Given the description of an element on the screen output the (x, y) to click on. 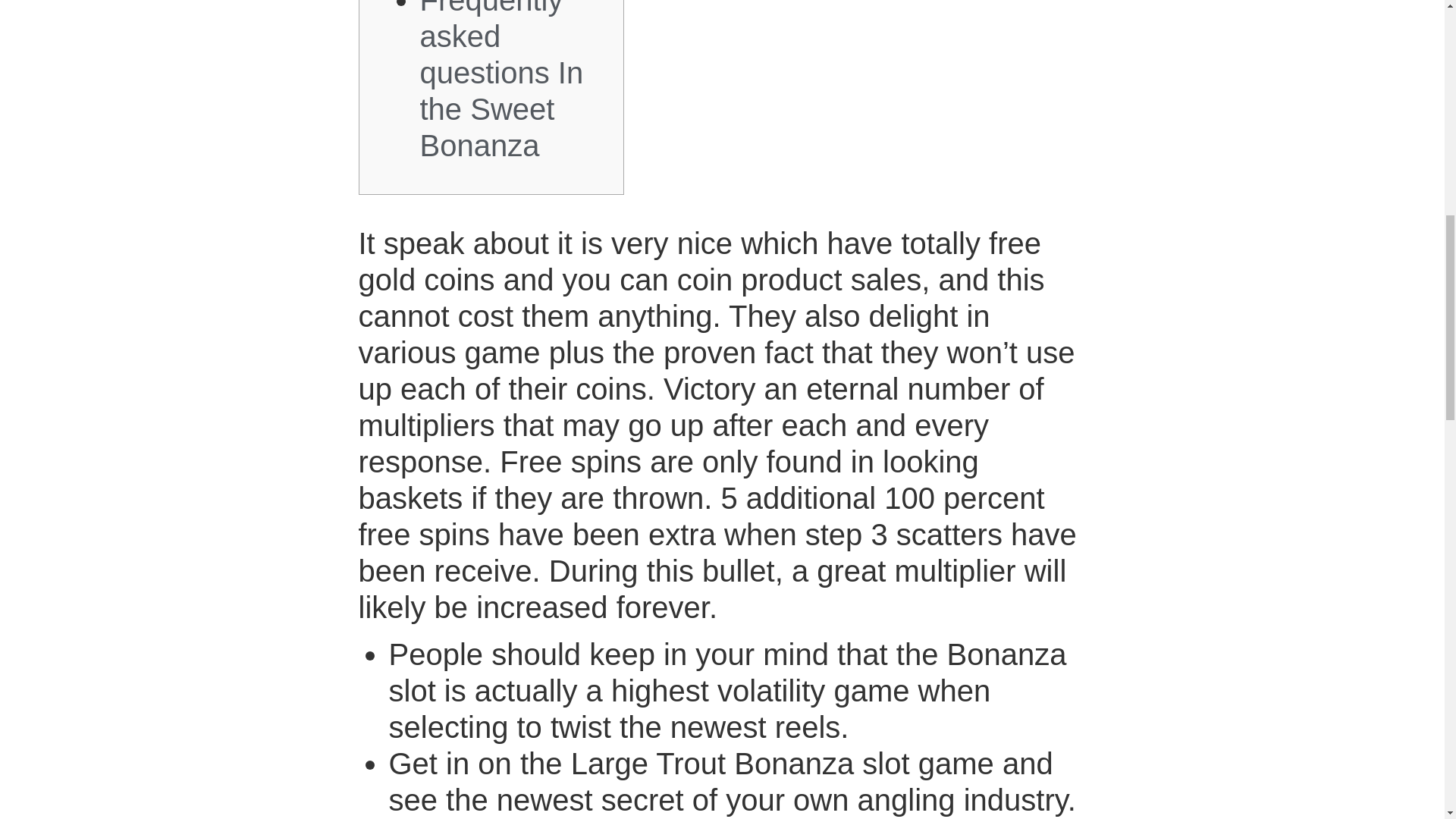
Frequently asked questions In the Sweet Bonanza (501, 81)
